Given the description of an element on the screen output the (x, y) to click on. 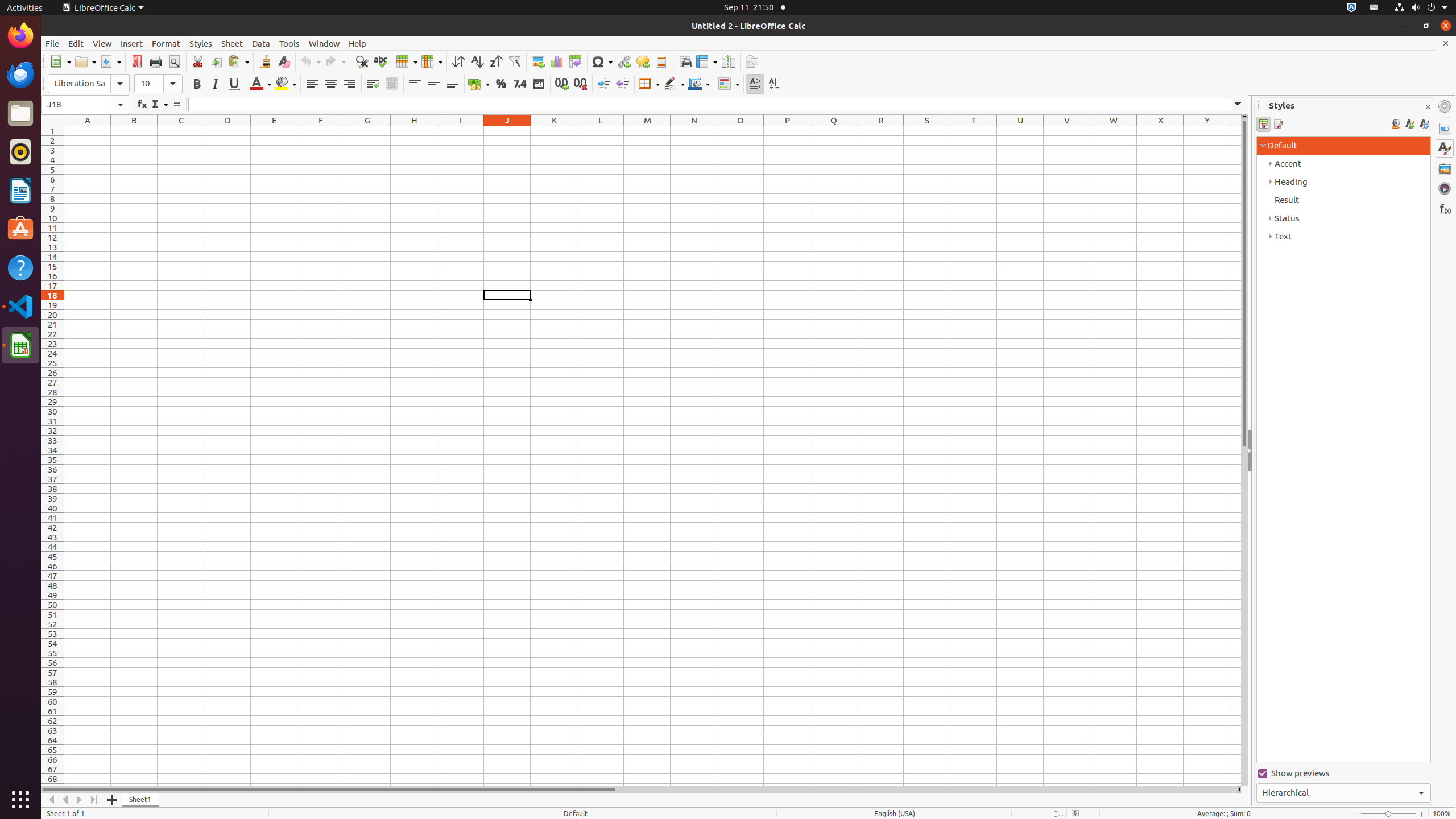
G1 Element type: table-cell (367, 130)
Redo Element type: push-button (334, 61)
Number Element type: push-button (519, 83)
D1 Element type: table-cell (227, 130)
